Given the description of an element on the screen output the (x, y) to click on. 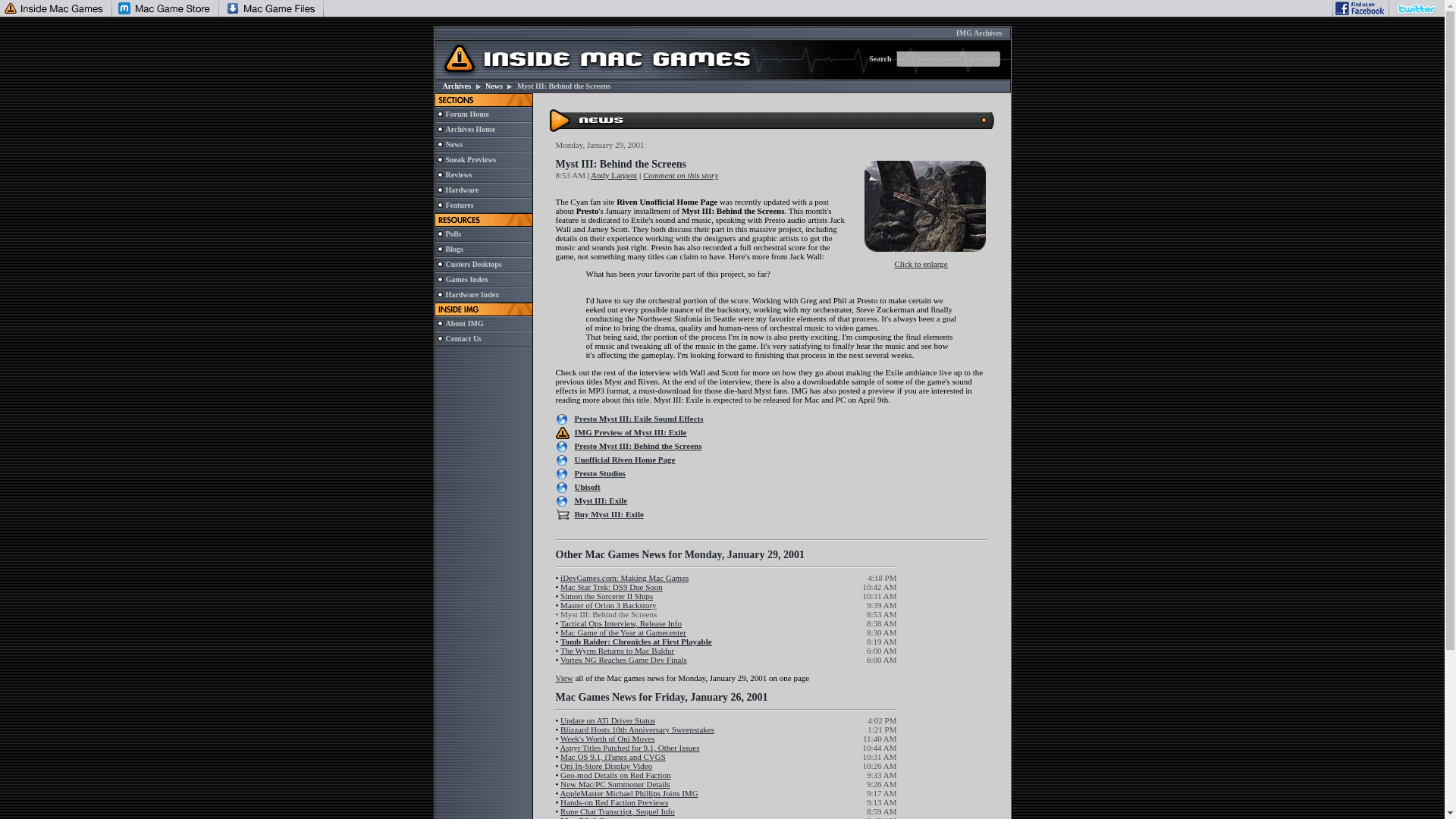
Hardware (462, 189)
Click to enlarge (921, 259)
Mac Game of the Year at Gamecenter (622, 632)
Forum Home (467, 113)
Archives (456, 85)
Contact Us (463, 338)
Games Index (466, 279)
Ubisoft (587, 486)
Polls (453, 234)
News (493, 85)
